Given the description of an element on the screen output the (x, y) to click on. 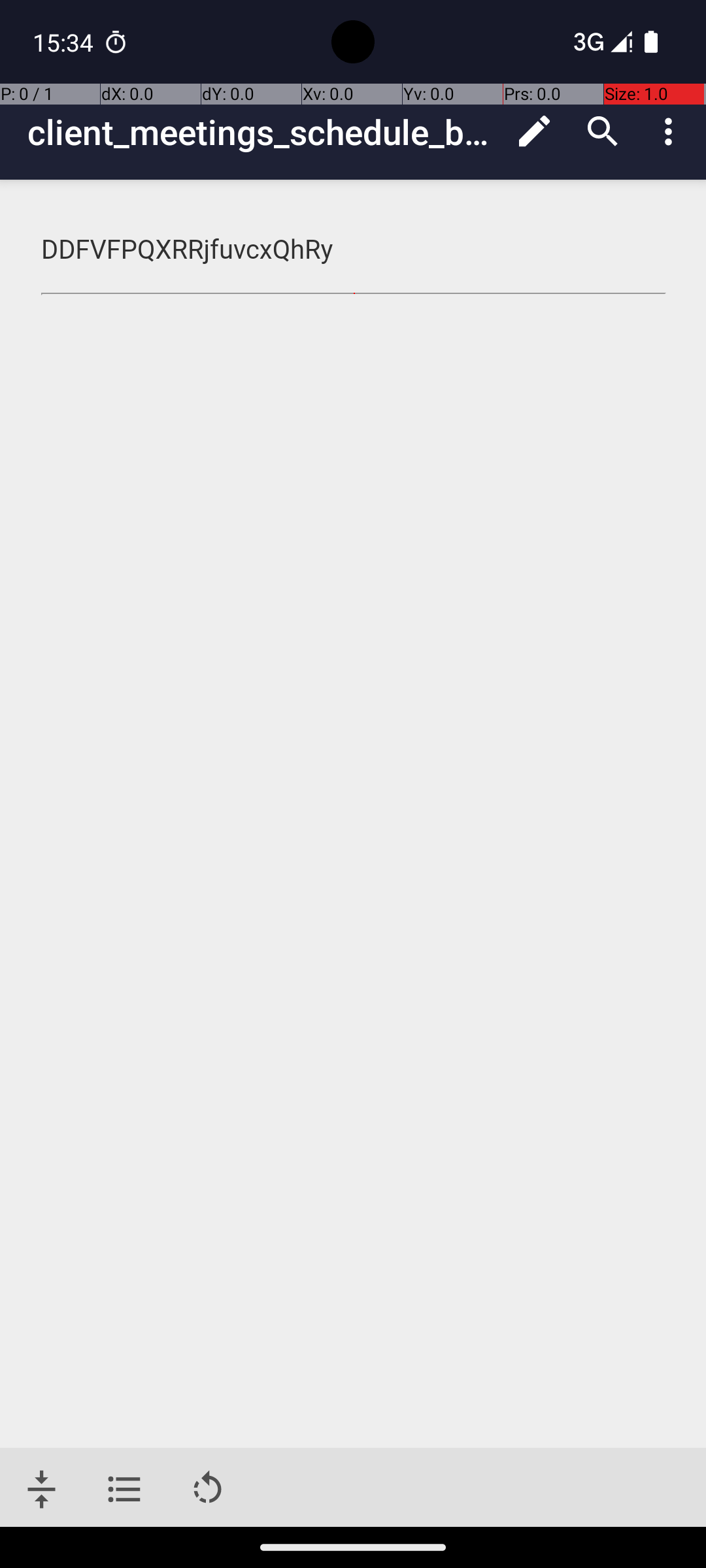
client_meetings_schedule_backup Element type: android.widget.TextView (263, 131)
DDFVFPQXRRjfuvcxQhRy Element type: android.widget.TextView (354, 249)
